Given the description of an element on the screen output the (x, y) to click on. 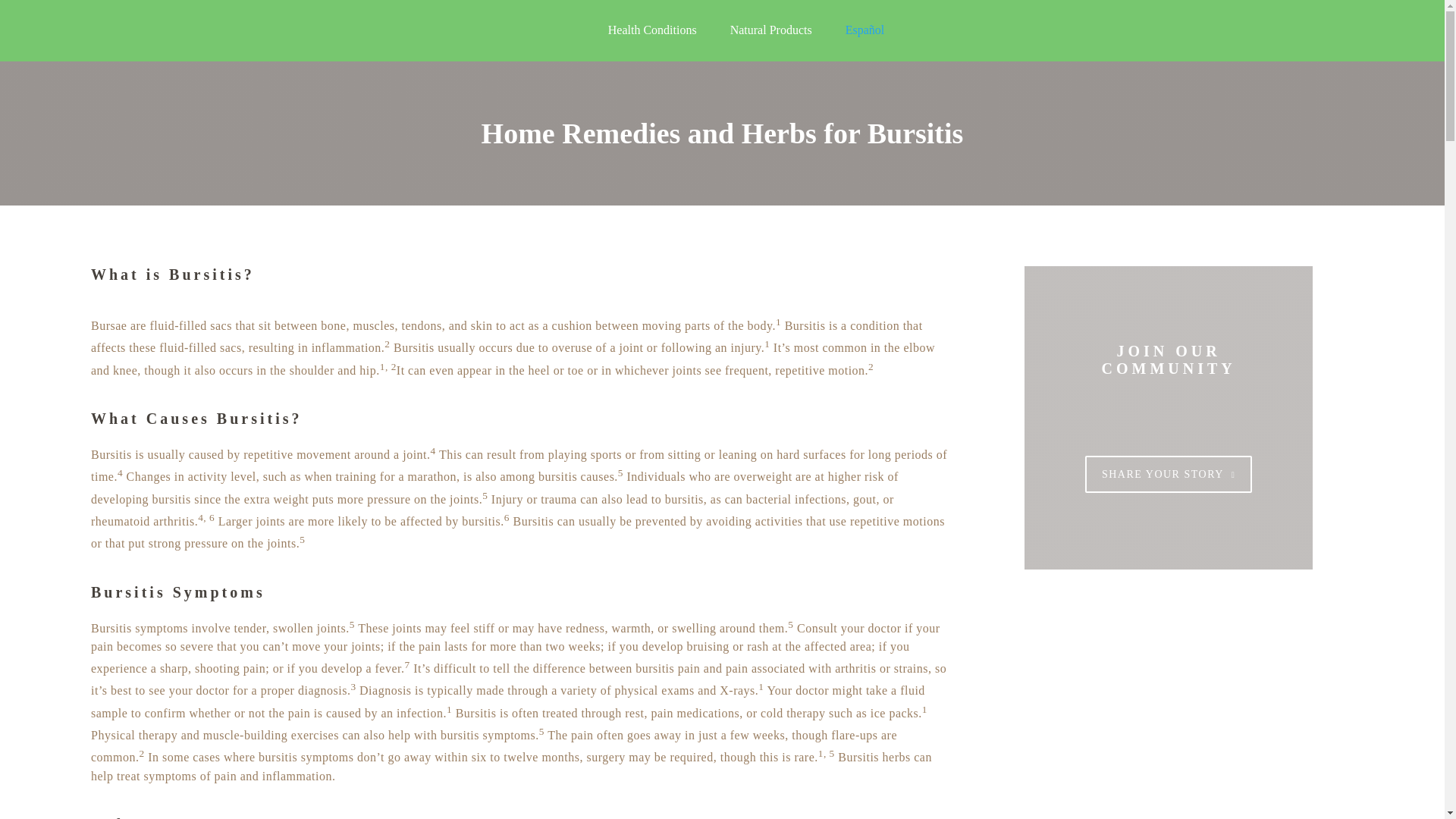
Health Conditions (652, 30)
Natural Products (771, 30)
CuresDecoded (205, 30)
